Given the description of an element on the screen output the (x, y) to click on. 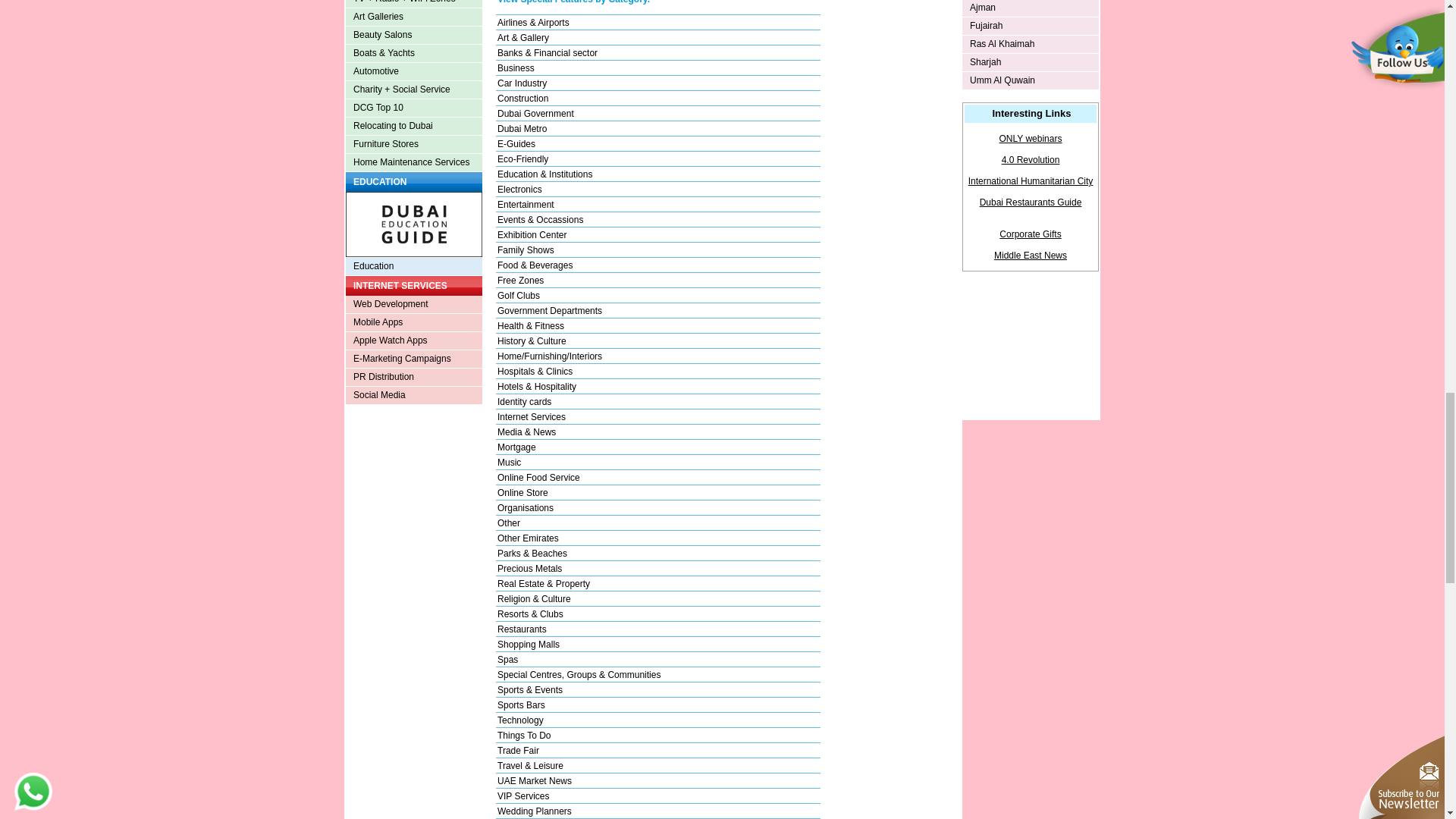
ONLY webinars (1030, 138)
4.0 Revolution (1030, 159)
Middle East News (1030, 255)
Corporate Gifts (1029, 234)
